Given the description of an element on the screen output the (x, y) to click on. 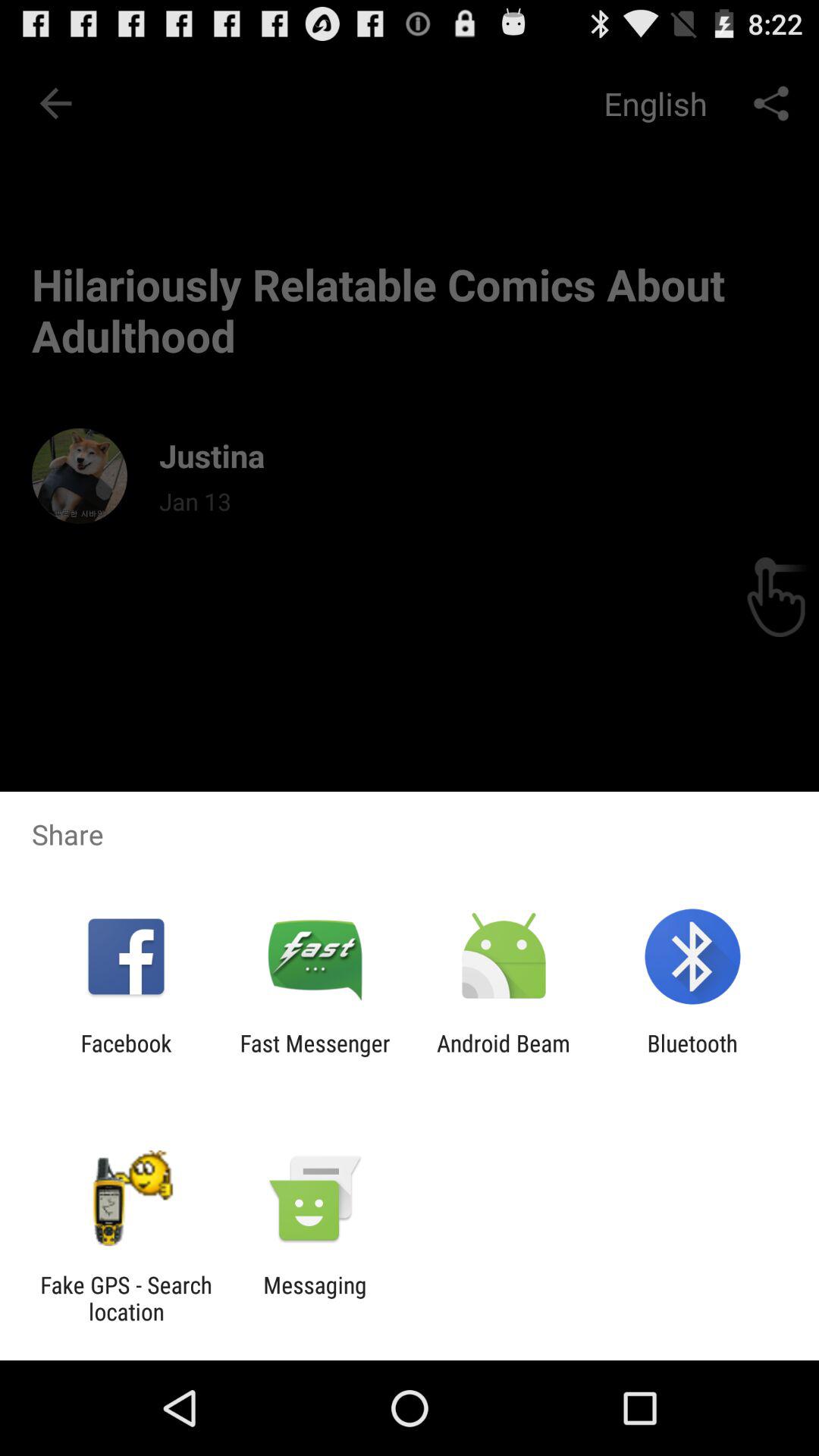
turn on icon next to the bluetooth app (503, 1056)
